Given the description of an element on the screen output the (x, y) to click on. 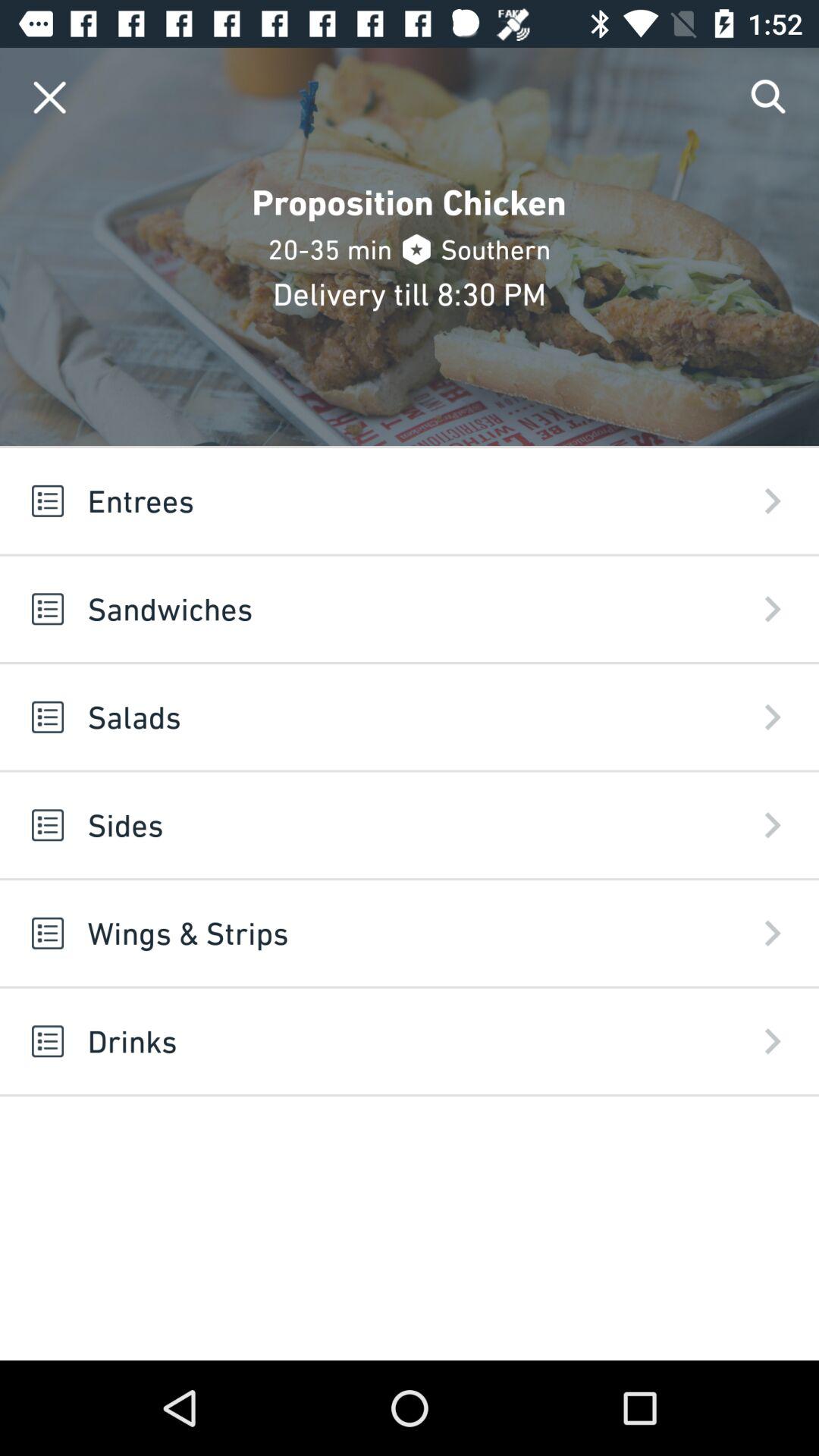
search (769, 97)
